Given the description of an element on the screen output the (x, y) to click on. 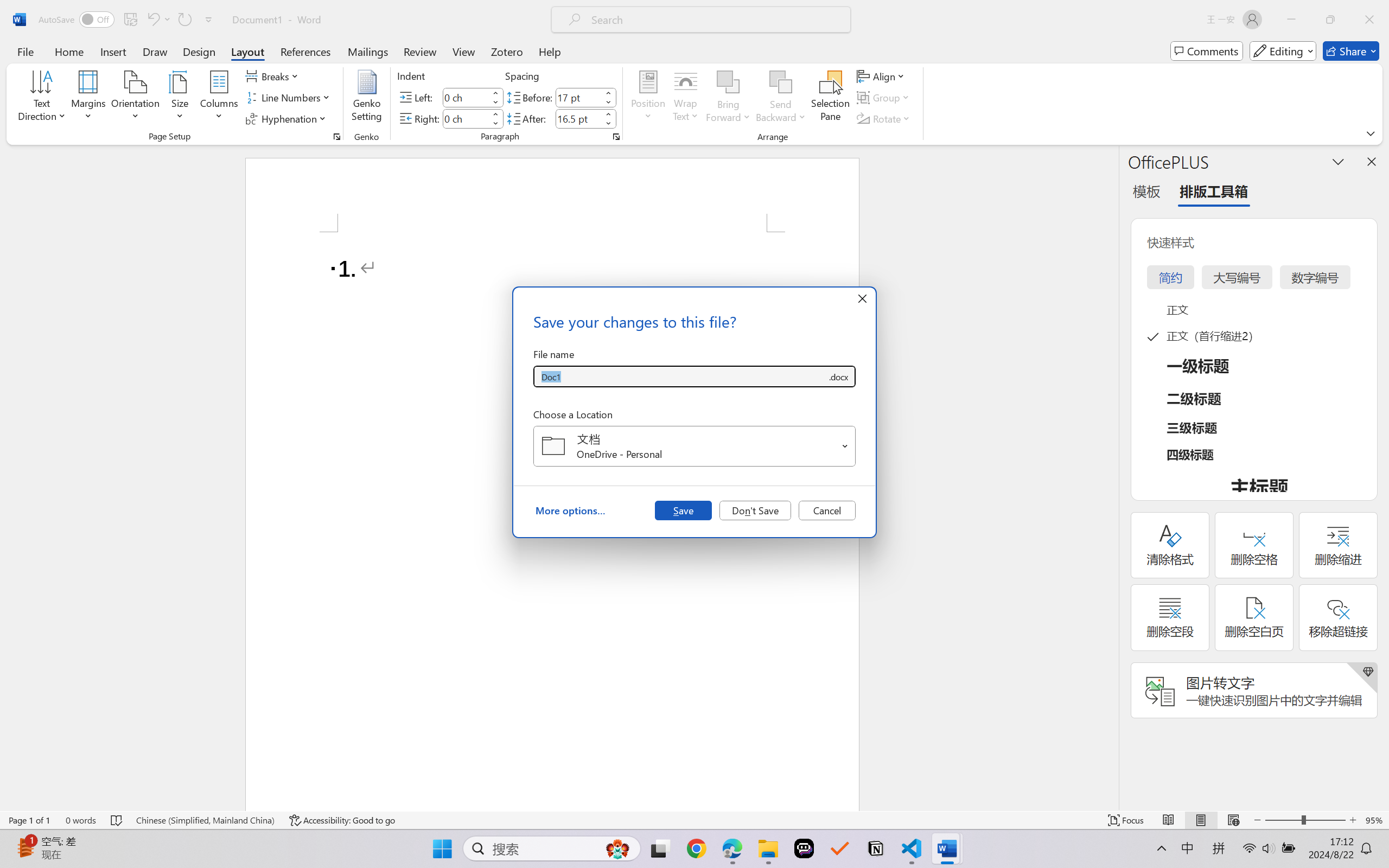
File name (680, 376)
Bring Forward (728, 97)
Microsoft search (715, 19)
Undo Number Default (158, 19)
Spacing After (578, 118)
Don't Save (755, 509)
